Given the description of an element on the screen output the (x, y) to click on. 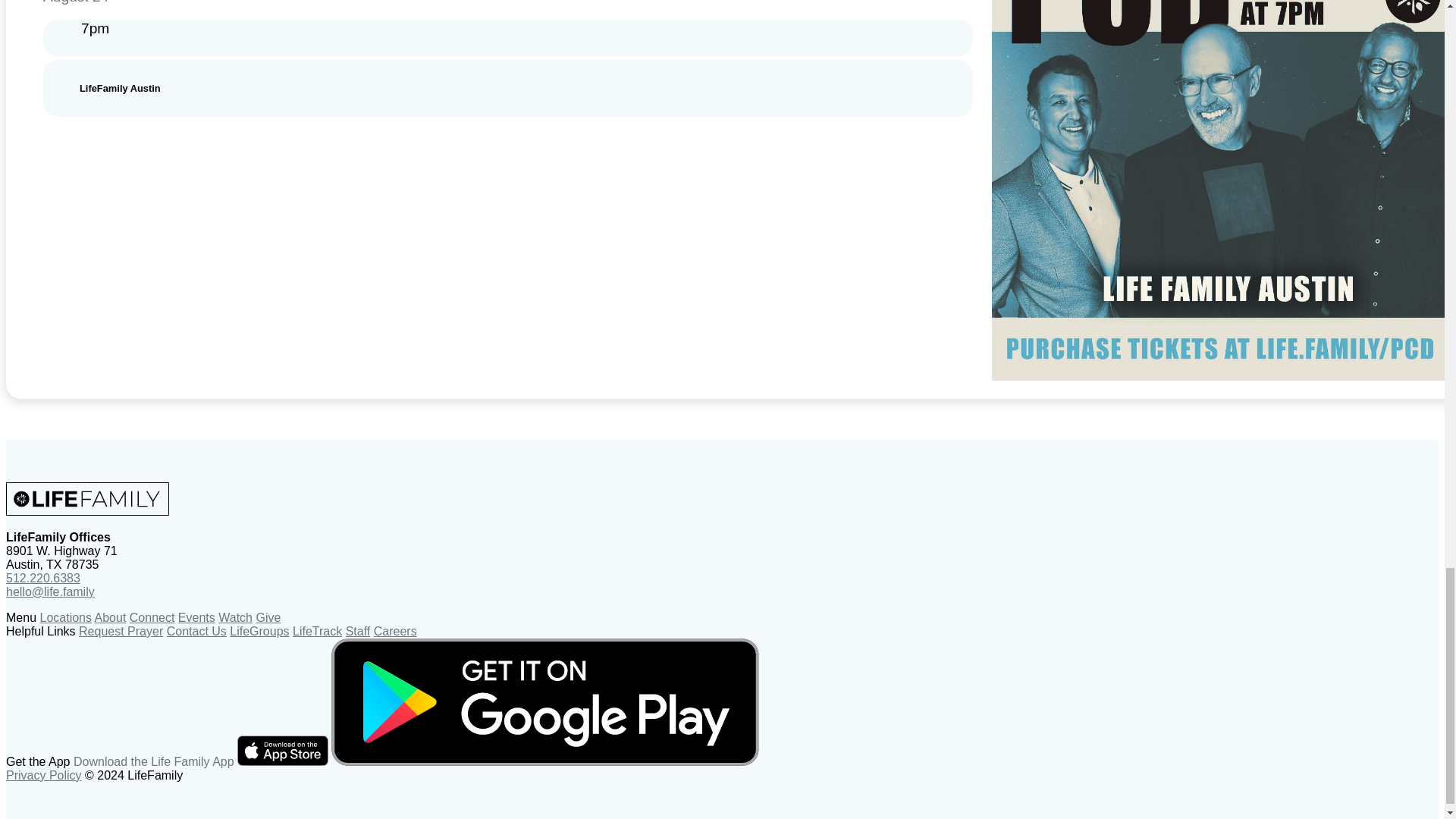
Watch (234, 617)
LifeGroups (259, 631)
512.220.6383 (42, 577)
Contact Us (197, 631)
About (110, 617)
LifeTrack (317, 631)
Request Prayer (120, 631)
Locations (65, 617)
Connect (151, 617)
Events (196, 617)
Staff (358, 631)
Give (268, 617)
Careers (395, 631)
